Given the description of an element on the screen output the (x, y) to click on. 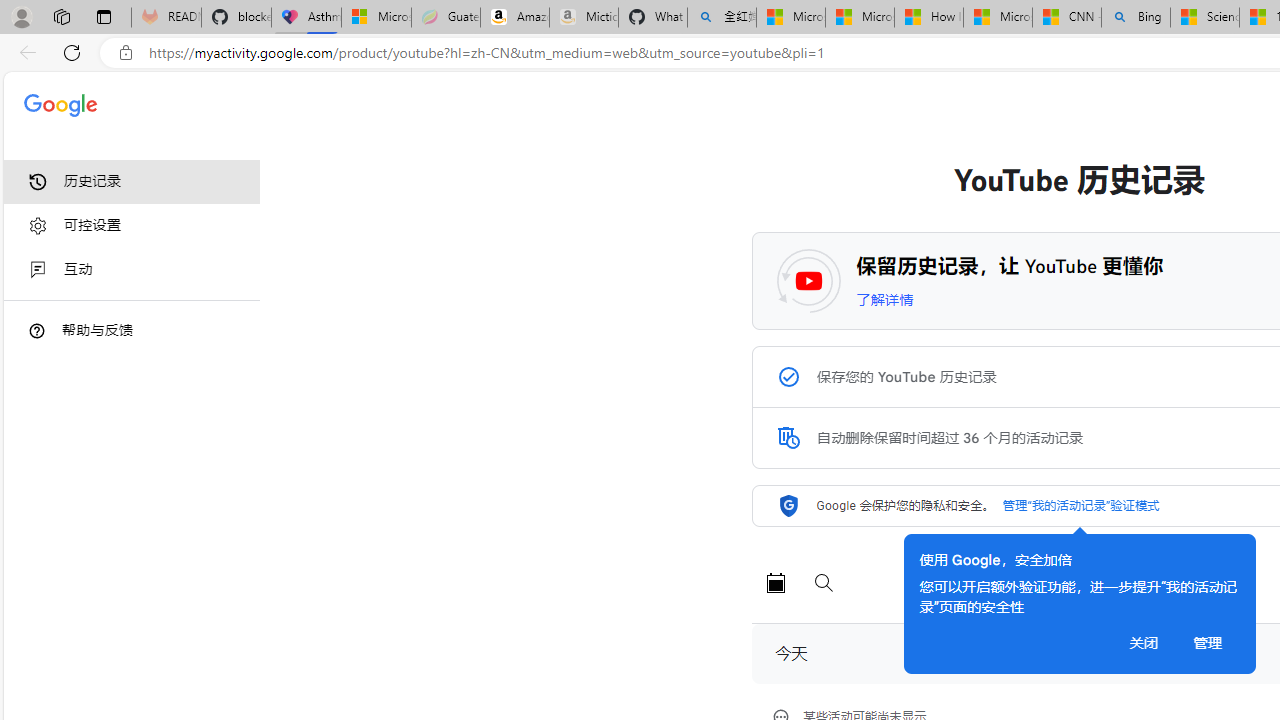
Class: i2GIId (38, 269)
CNN - MSN (1066, 17)
